Given the description of an element on the screen output the (x, y) to click on. 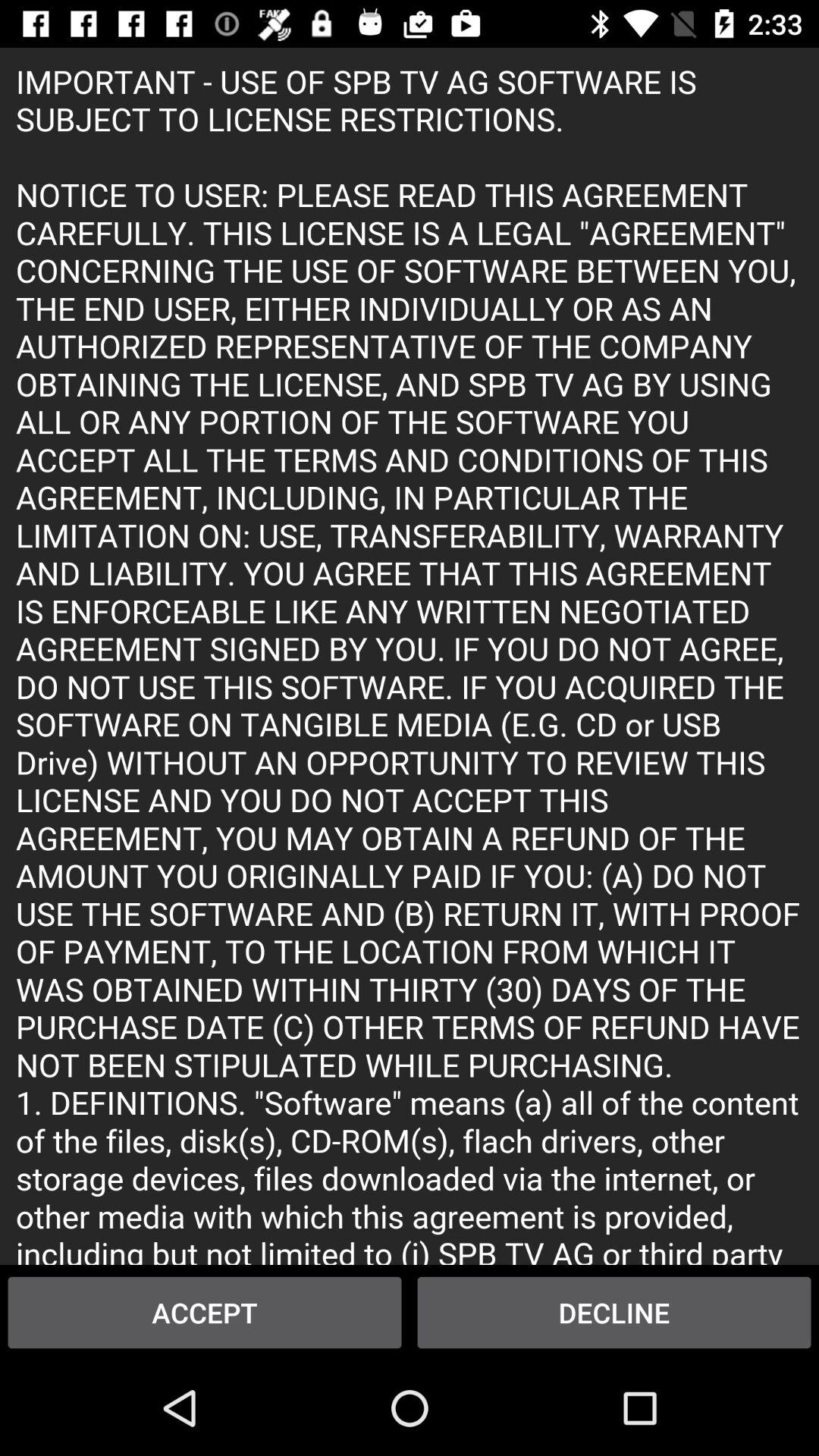
select the icon next to the decline icon (204, 1312)
